Given the description of an element on the screen output the (x, y) to click on. 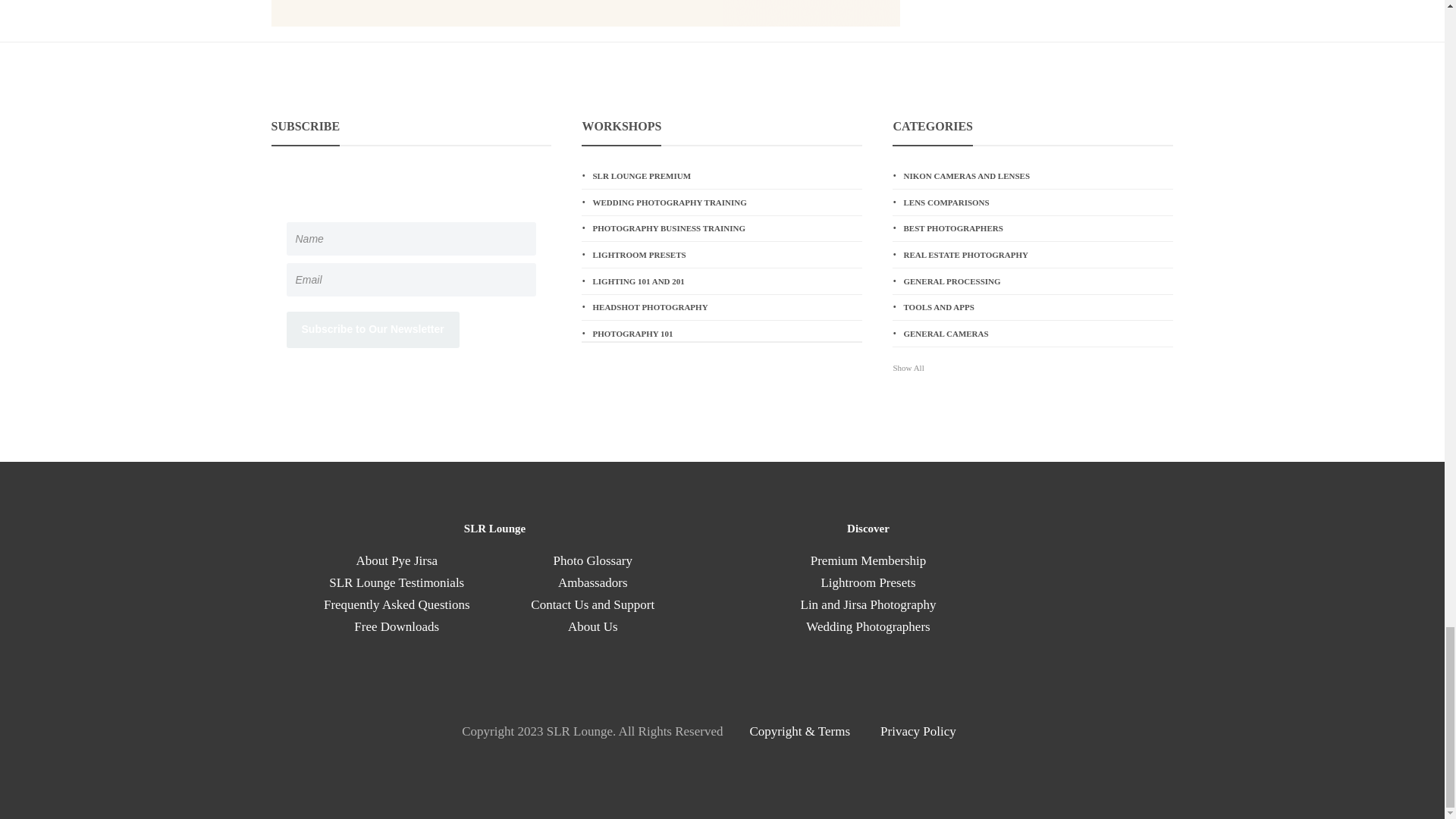
Advertisement (584, 13)
